Given the description of an element on the screen output the (x, y) to click on. 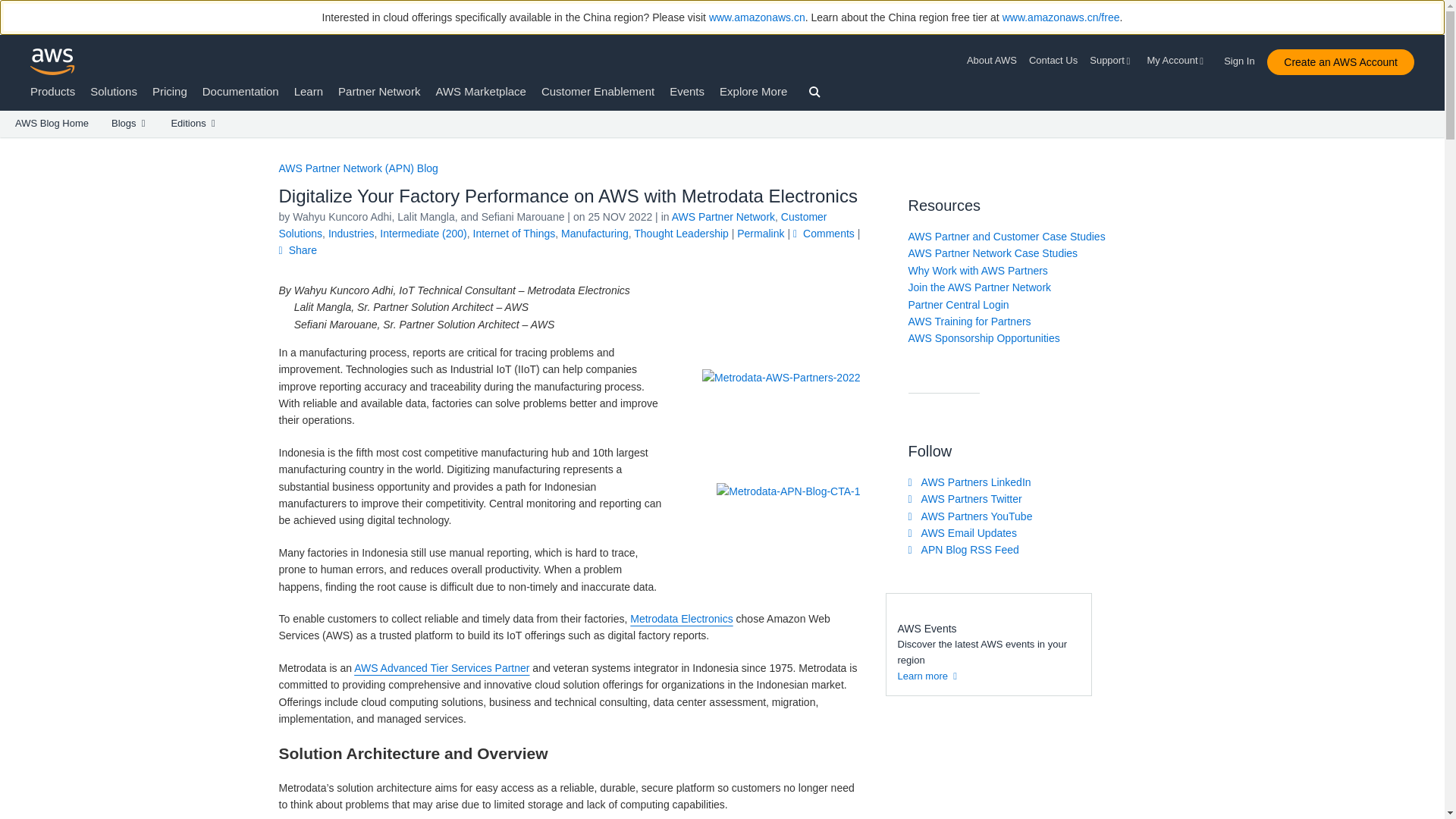
Click here to return to Amazon Web Services homepage (52, 61)
Sign In (1243, 58)
About AWS (994, 60)
View all posts in Thought Leadership (681, 233)
Skip to Main Content (7, 143)
My Account  (1177, 60)
AWS Marketplace (480, 91)
Customer Enablement (597, 91)
View all posts in Internet of Things (514, 233)
Partner Network (378, 91)
Create an AWS Account (1339, 62)
Support  (1111, 60)
Explore More (753, 91)
View all posts in Industries (351, 233)
Pricing (169, 91)
